Given the description of an element on the screen output the (x, y) to click on. 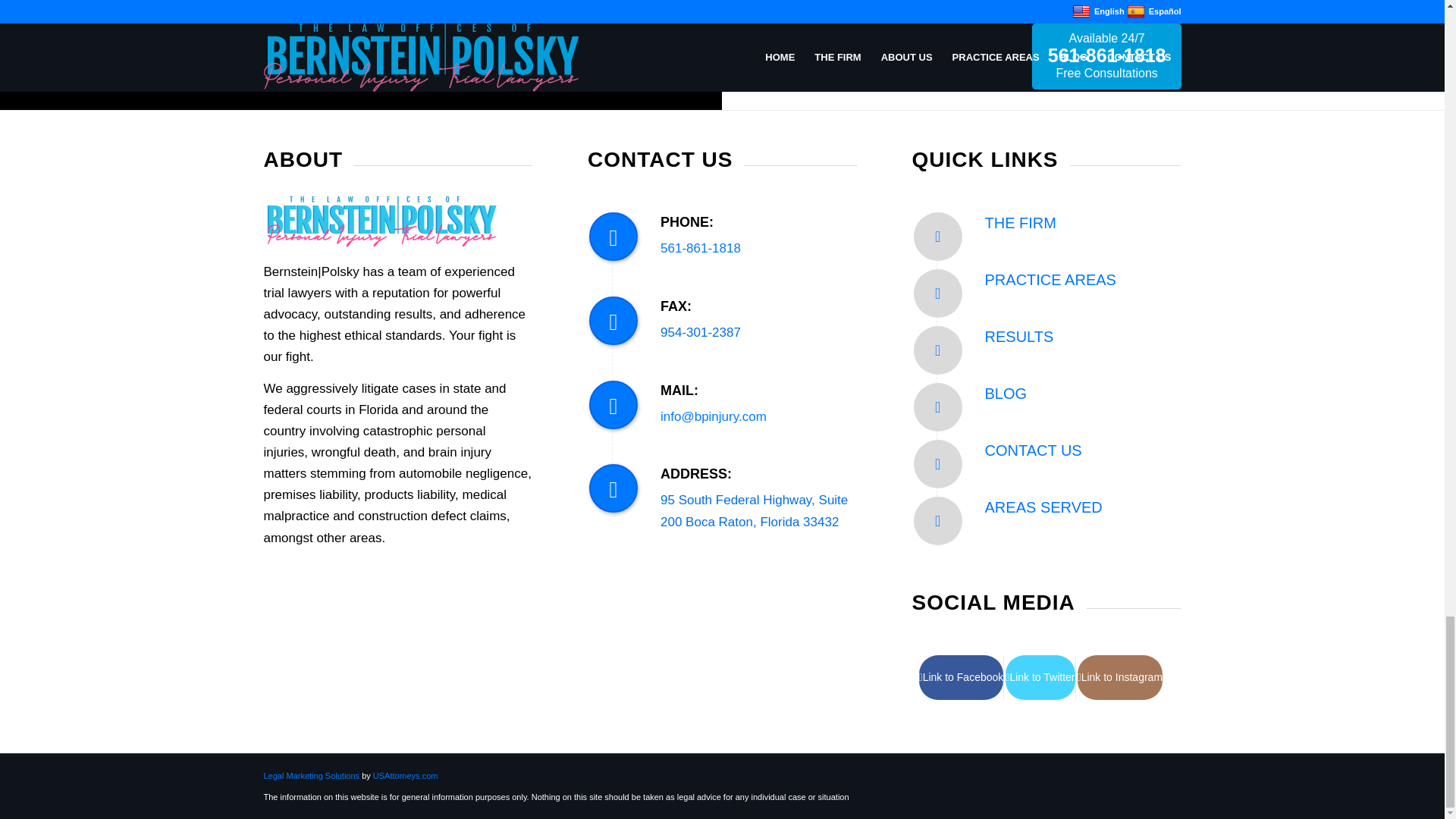
logo-Bernstein-polsky-lawyer (381, 220)
RESULTS (1019, 336)
CONTACT US (1033, 450)
AREAS SERVED (1043, 506)
PRACTICE AREAS (1050, 279)
BLOG (1006, 393)
THE FIRM (1021, 222)
